Given the description of an element on the screen output the (x, y) to click on. 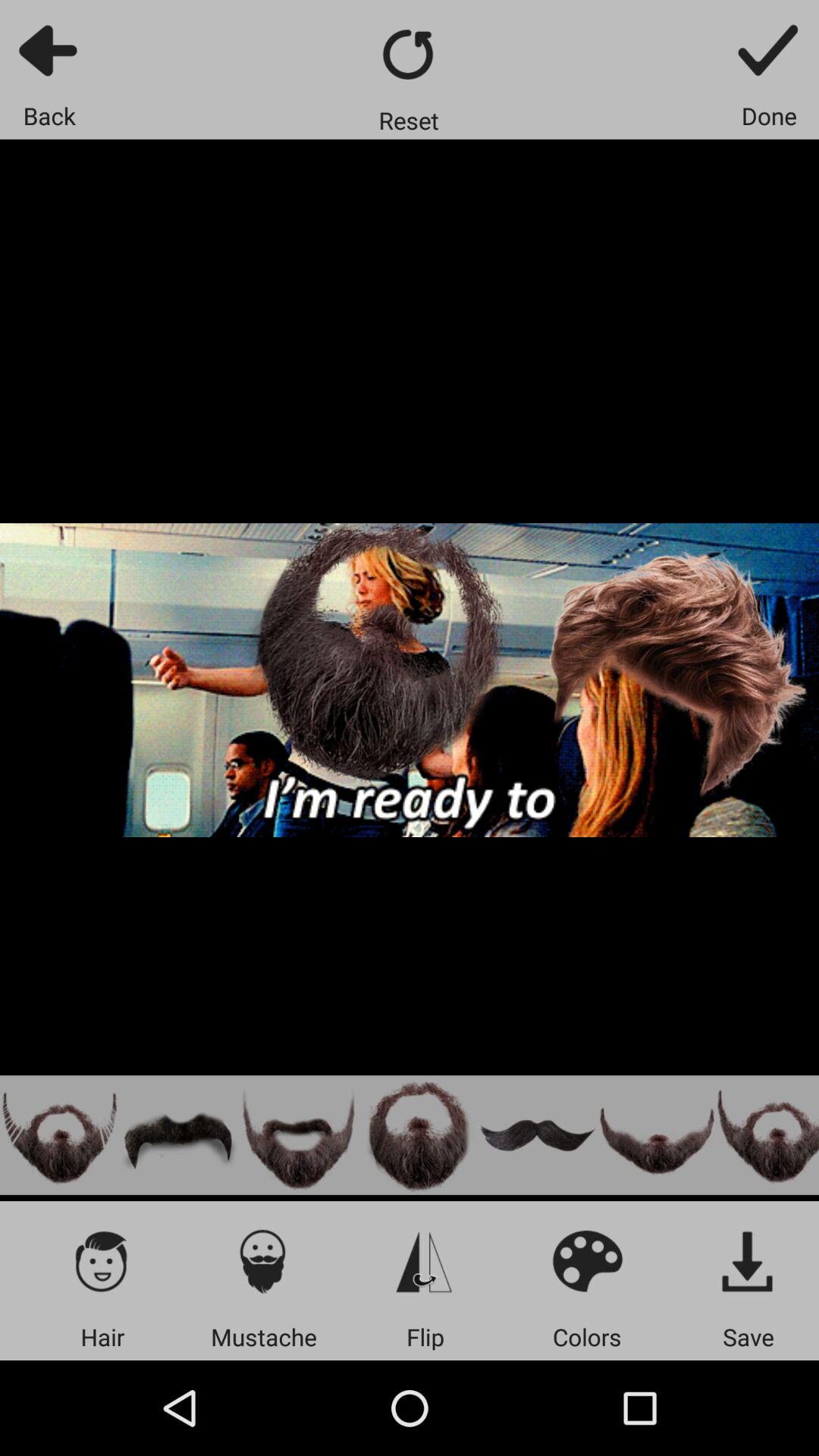
add this (298, 1134)
